Given the description of an element on the screen output the (x, y) to click on. 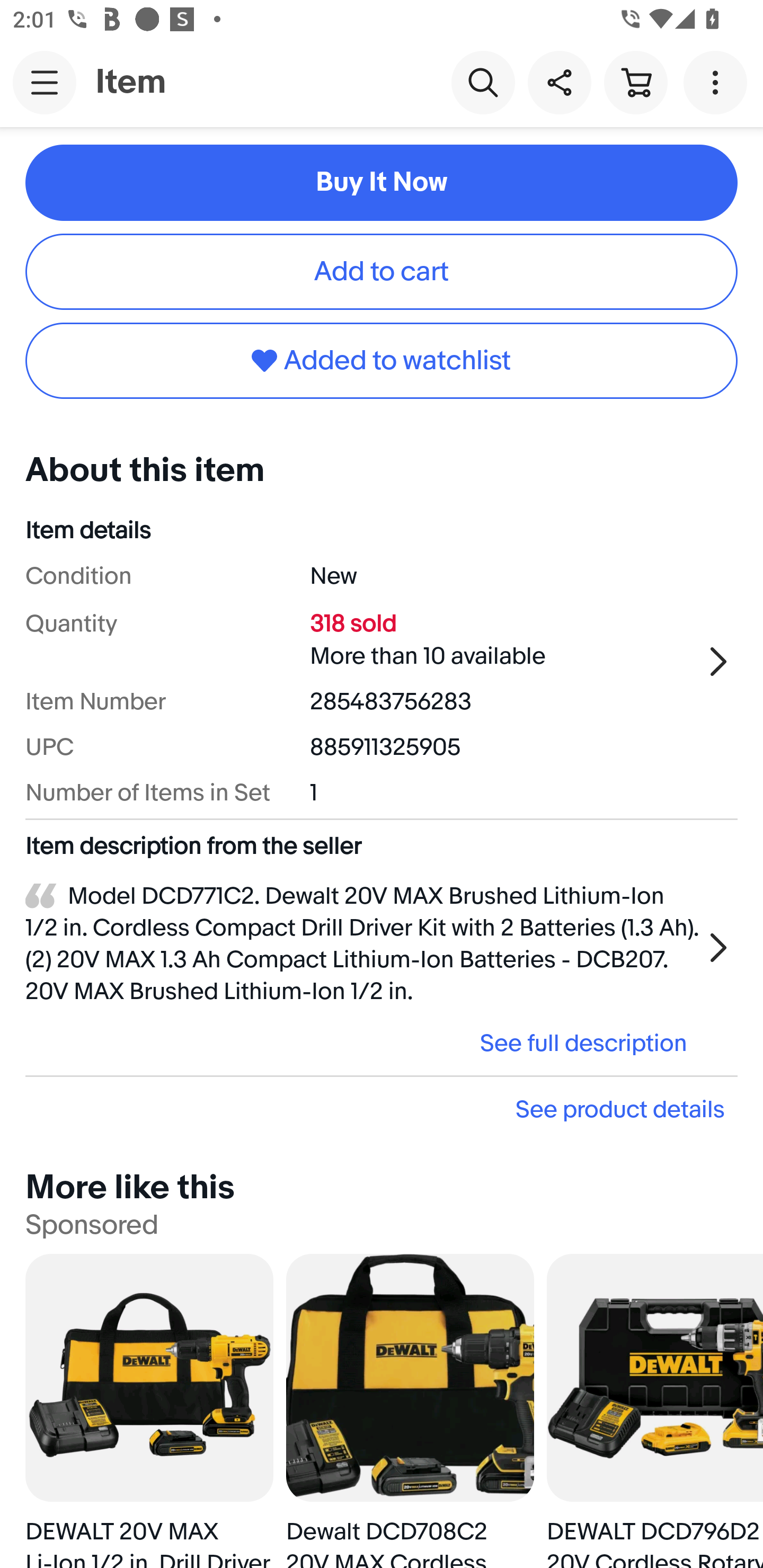
Main navigation, open (44, 82)
Search (482, 81)
Share this item (559, 81)
Cart button shopping cart (635, 81)
More options (718, 81)
Buy It Now (381, 182)
Add to cart (381, 271)
Added to watchlist (381, 360)
See full description (362, 1043)
See product details (381, 1108)
